Given the description of an element on the screen output the (x, y) to click on. 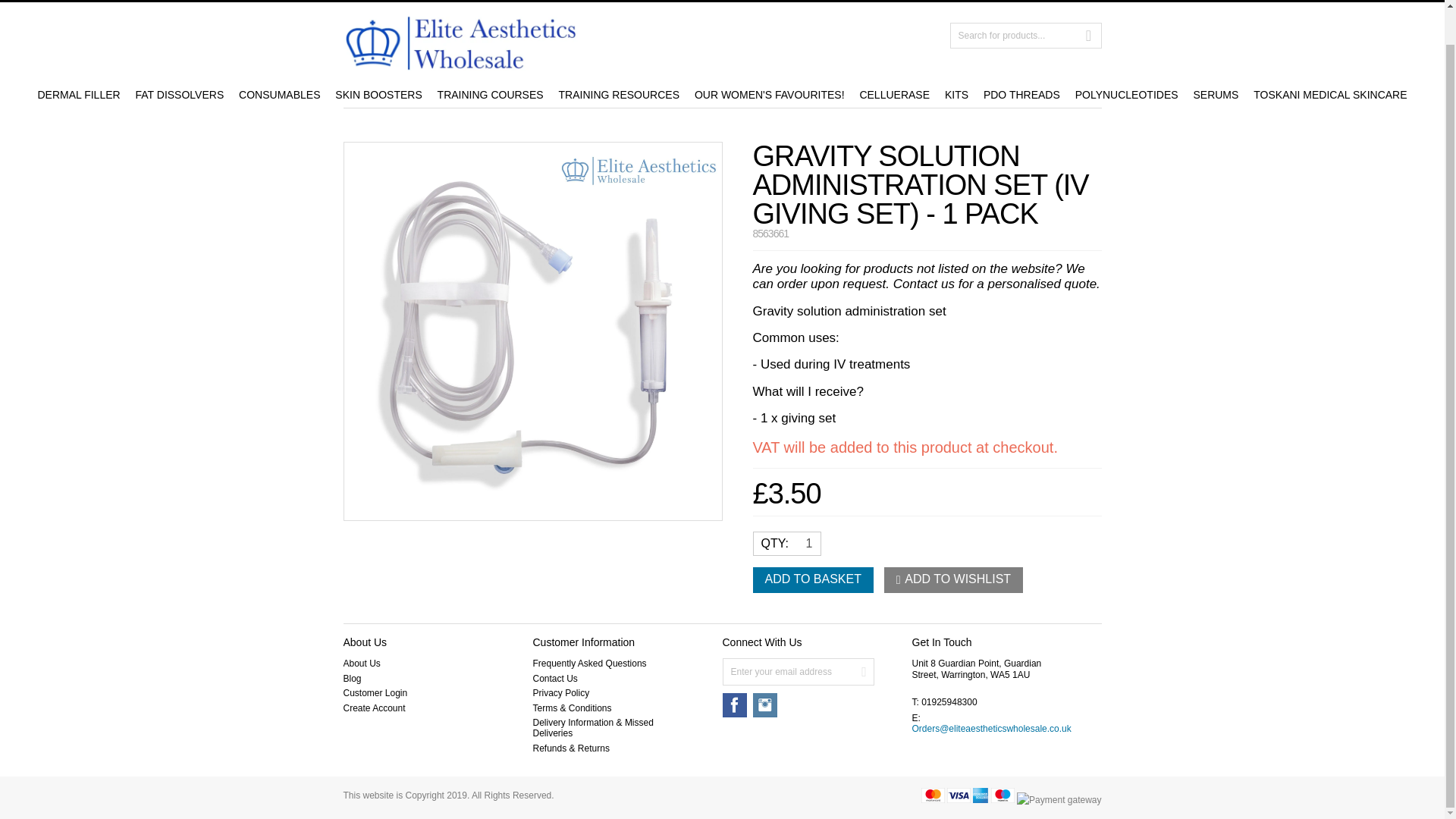
DERMAL FILLER (77, 94)
FAT DISSOLVERS (179, 94)
1 (802, 543)
HOME (355, 1)
CONTACT US (419, 1)
YOUR ACCOUNT (809, 1)
YOUR WISHLIST (900, 1)
CONSUMABLES (279, 94)
